Given the description of an element on the screen output the (x, y) to click on. 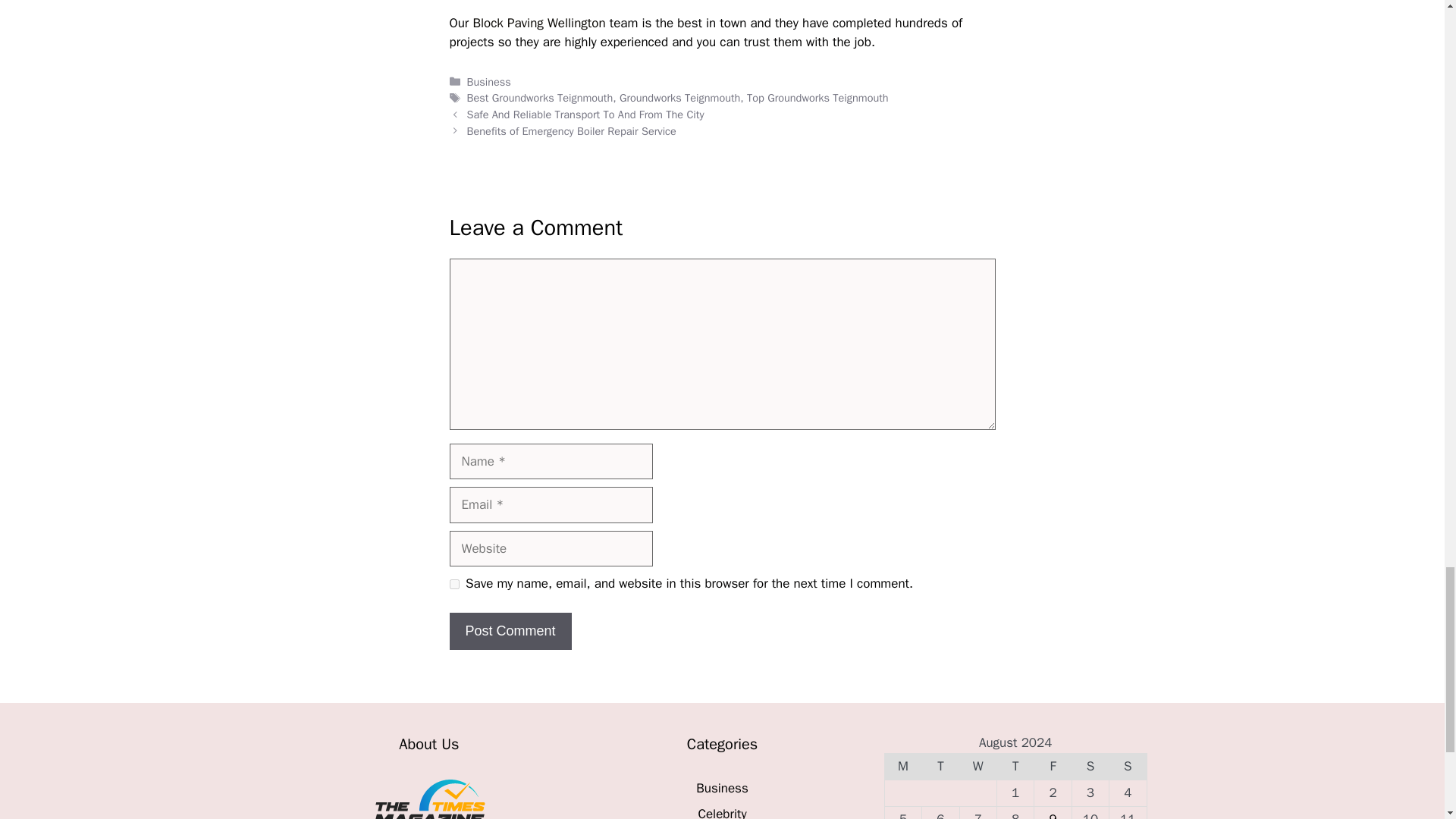
Top Groundworks Teignmouth (817, 97)
Benefits of Emergency Boiler Repair Service (572, 131)
Wednesday (977, 765)
Saturday (1089, 765)
Monday (902, 765)
Best Groundworks Teignmouth (539, 97)
Safe And Reliable Transport To And From The City (585, 114)
Post Comment (509, 631)
Thursday (1014, 765)
Sunday (1128, 765)
